Given the description of an element on the screen output the (x, y) to click on. 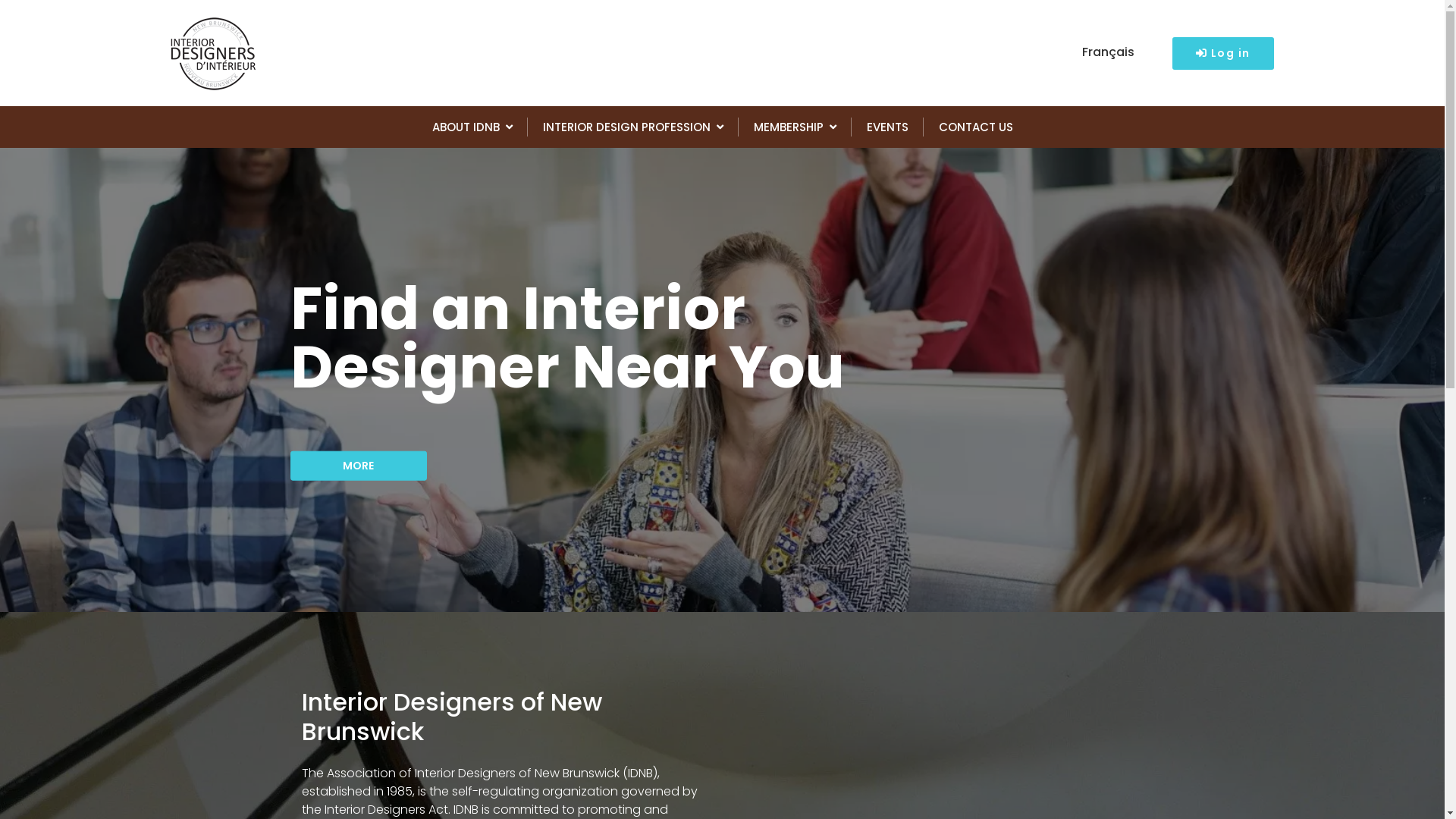
INTERIOR DESIGN PROFESSION Element type: text (632, 126)
ABOUT IDNB Element type: text (472, 126)
MEMBERSHIP Element type: text (794, 126)
CONTACT US Element type: text (975, 126)
EVENTS Element type: text (886, 126)
MORE Element type: text (357, 465)
Log in Element type: text (1223, 52)
